Given the description of an element on the screen output the (x, y) to click on. 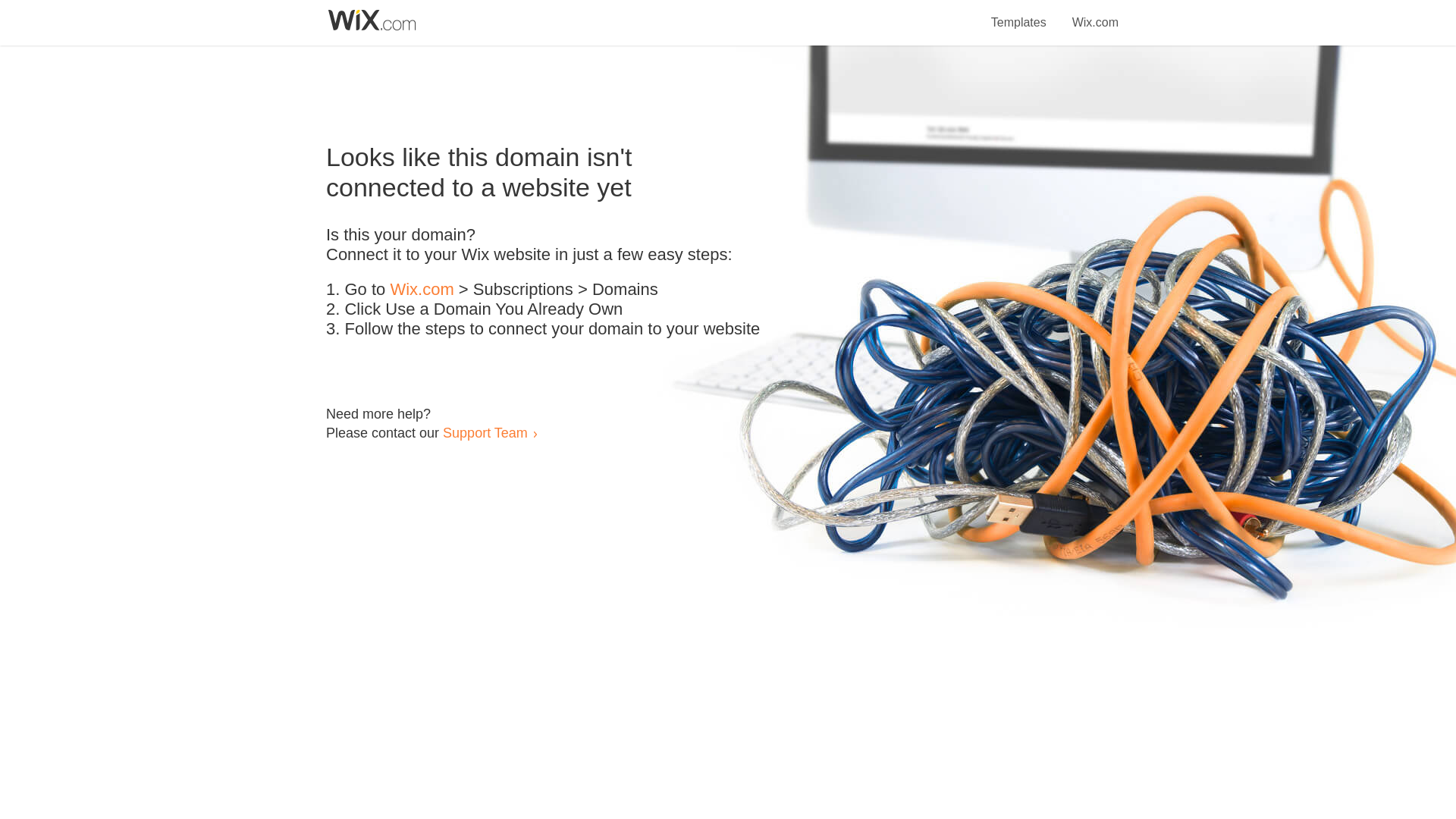
Support Team (484, 432)
Wix.com (1095, 14)
Wix.com (421, 289)
Templates (1018, 14)
